Given the description of an element on the screen output the (x, y) to click on. 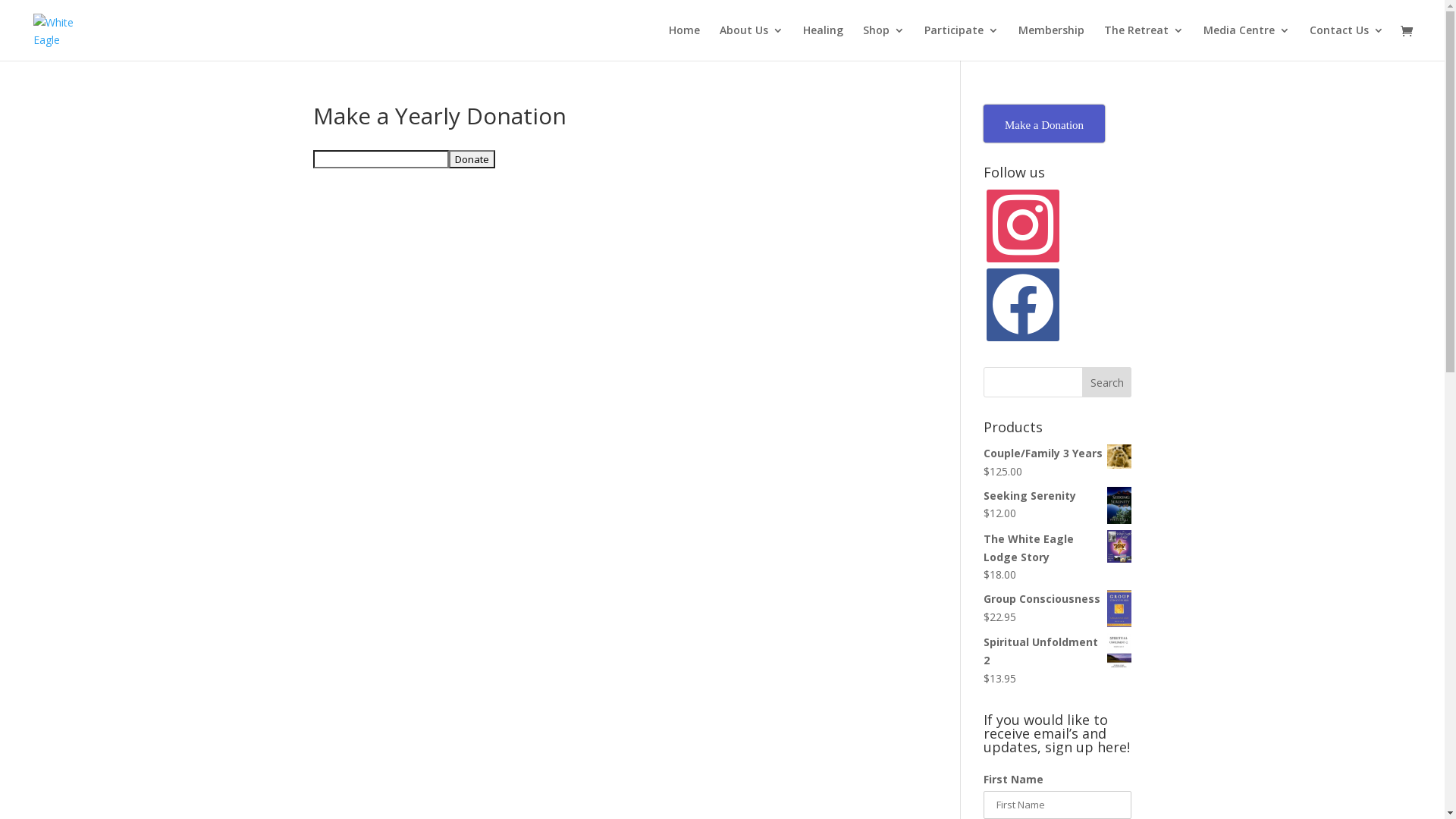
Healing Element type: text (823, 42)
Membership Element type: text (1051, 42)
The Retreat Element type: text (1143, 42)
The White Eagle Lodge Story Element type: text (1057, 548)
Spiritual Unfoldment 2 Element type: text (1057, 651)
Couple/Family 3 Years Element type: text (1057, 453)
Shop Element type: text (883, 42)
Media Centre Element type: text (1246, 42)
Home Element type: text (683, 42)
About Us Element type: text (751, 42)
Contact Us Element type: text (1346, 42)
Search Element type: text (1107, 382)
Make a Donation Element type: text (1043, 123)
facebook Element type: text (1022, 303)
Donate Element type: text (471, 159)
instagram Element type: text (1022, 224)
Seeking Serenity Element type: text (1057, 495)
Participate Element type: text (961, 42)
Group Consciousness Element type: text (1057, 598)
